Given the description of an element on the screen output the (x, y) to click on. 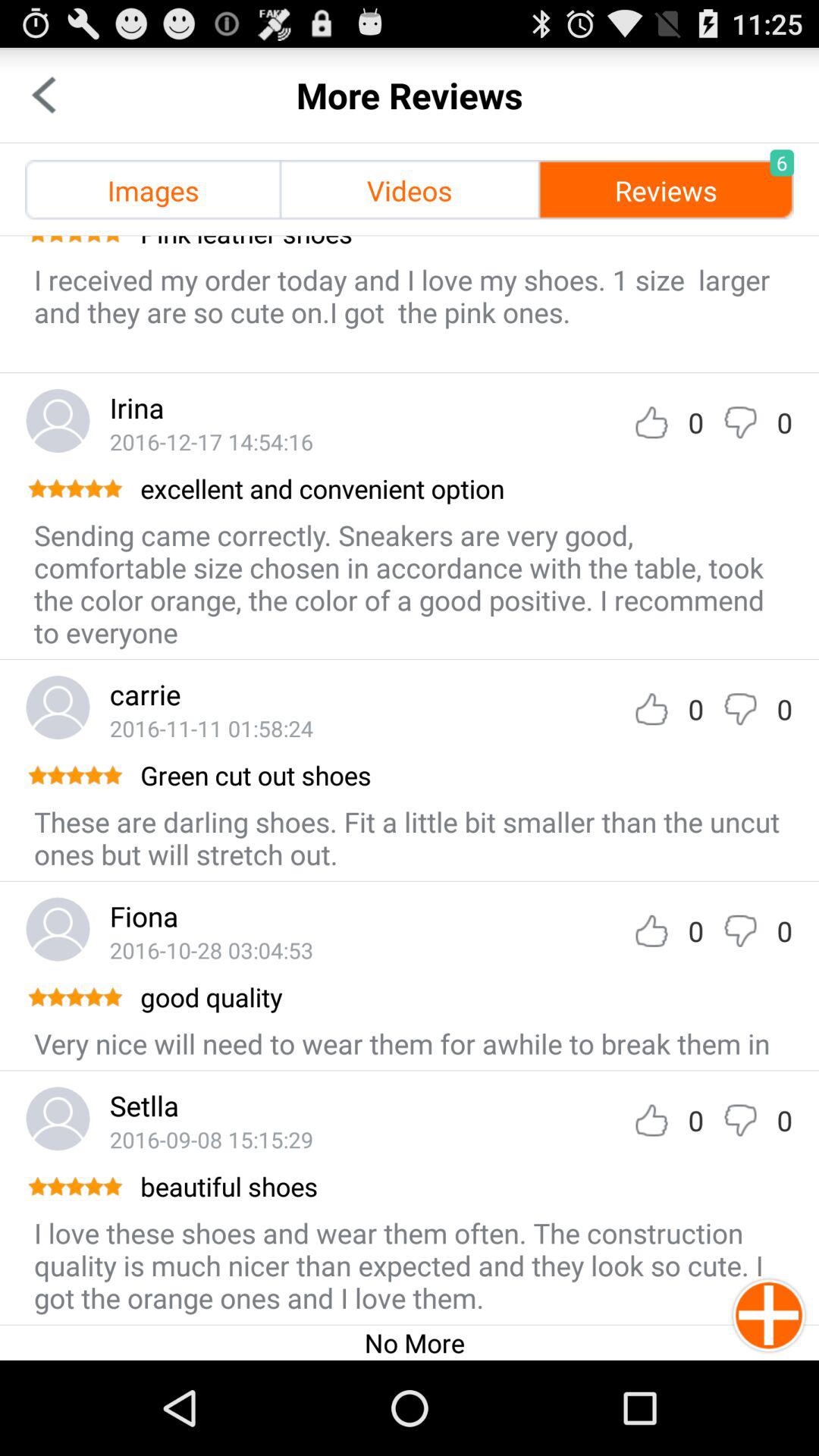
open app below the good quality app (402, 1043)
